Given the description of an element on the screen output the (x, y) to click on. 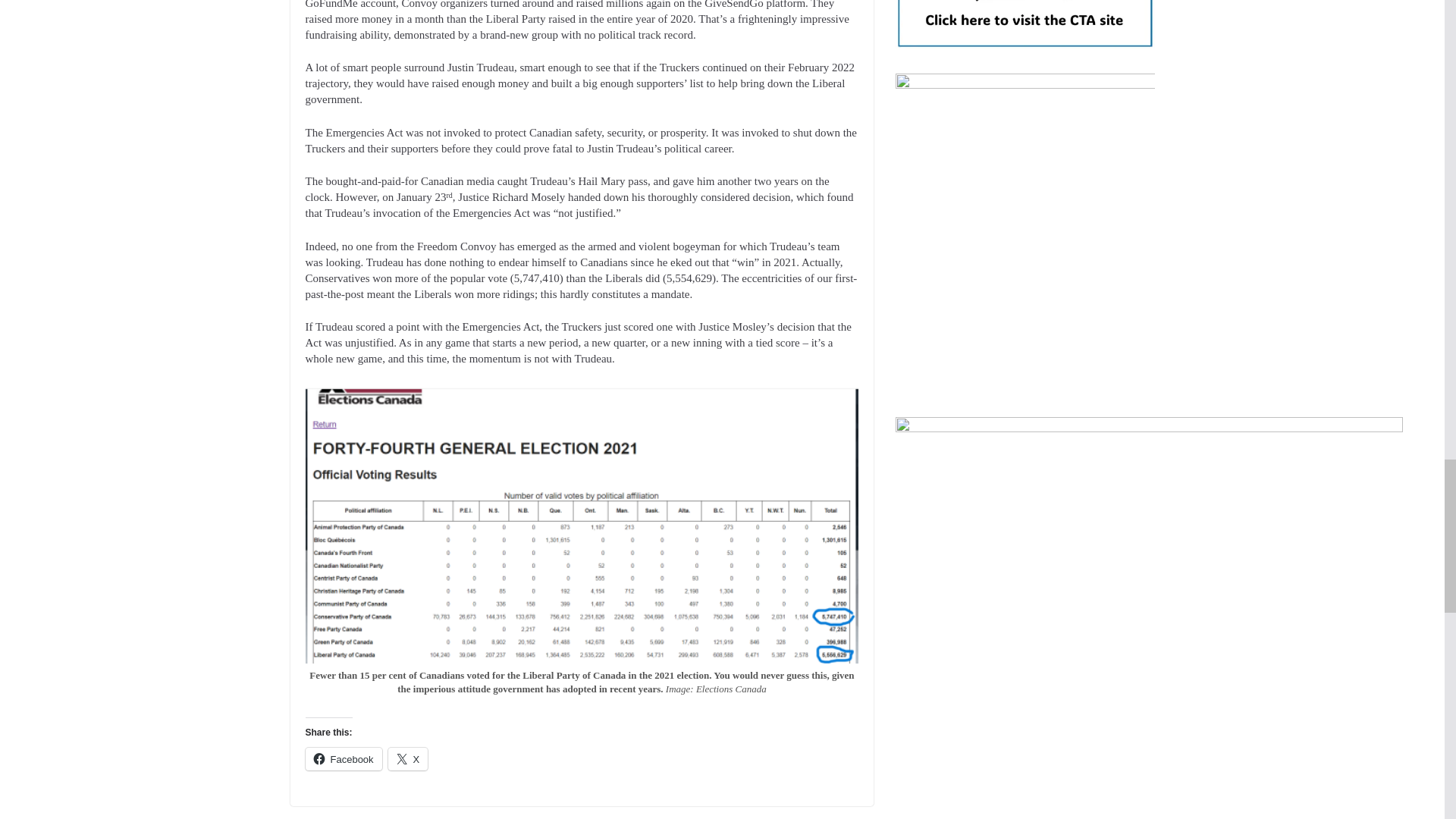
Click to share on X (408, 758)
X (408, 758)
Click to share on Facebook (342, 758)
Facebook (342, 758)
